Given the description of an element on the screen output the (x, y) to click on. 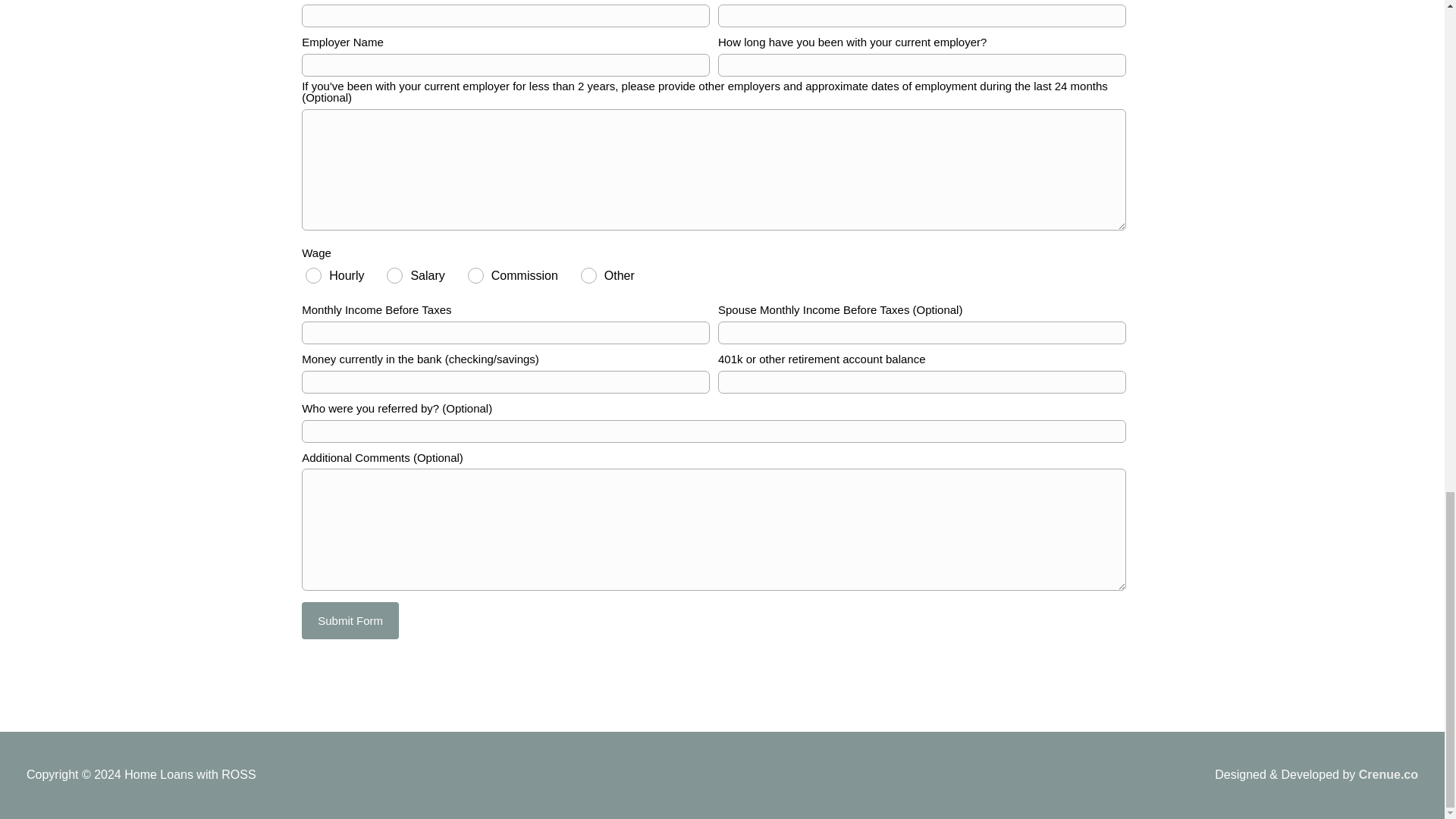
Submit Form (349, 620)
Crenue.co (1388, 774)
